Given the description of an element on the screen output the (x, y) to click on. 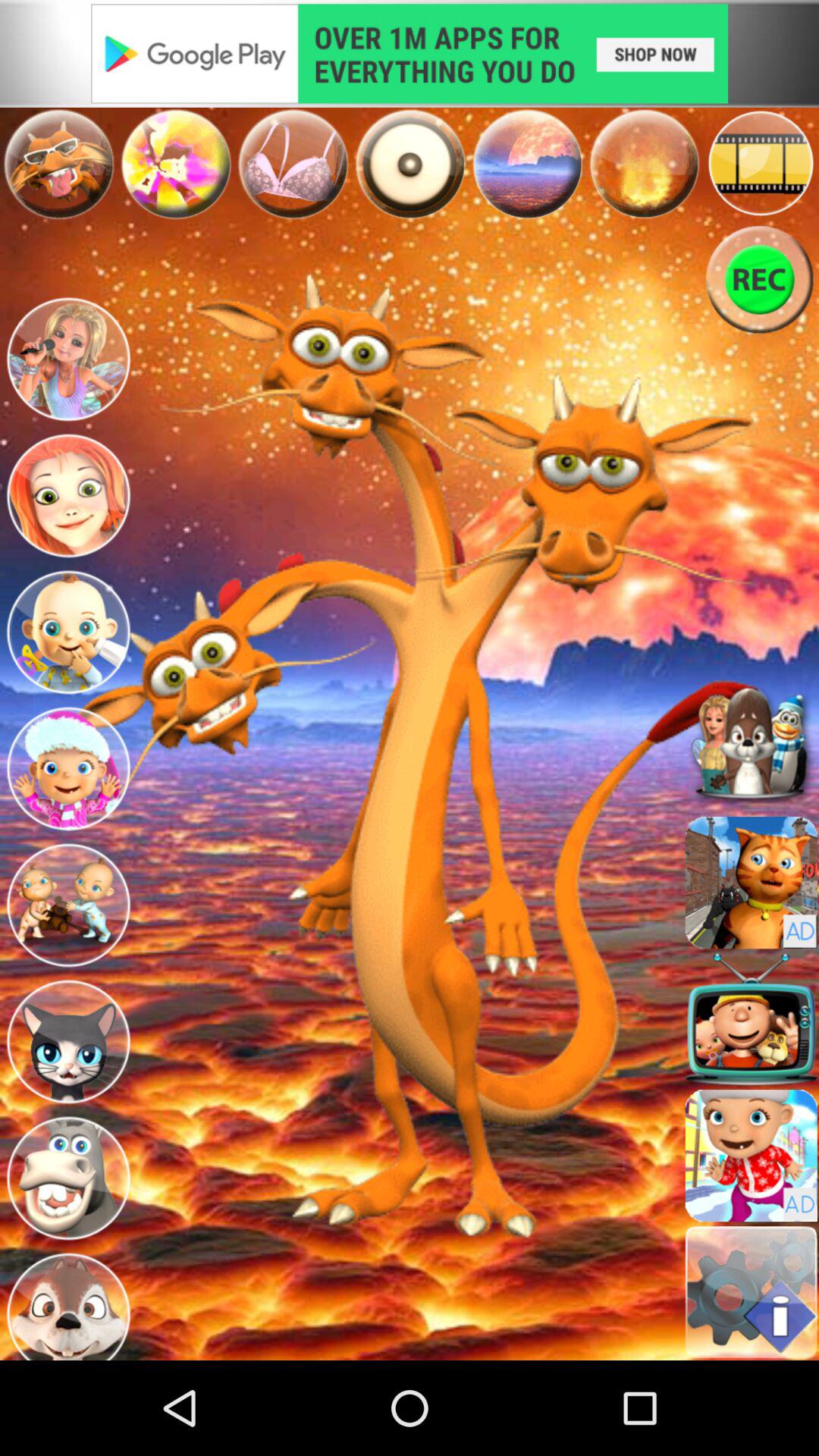
information button (751, 1291)
